Given the description of an element on the screen output the (x, y) to click on. 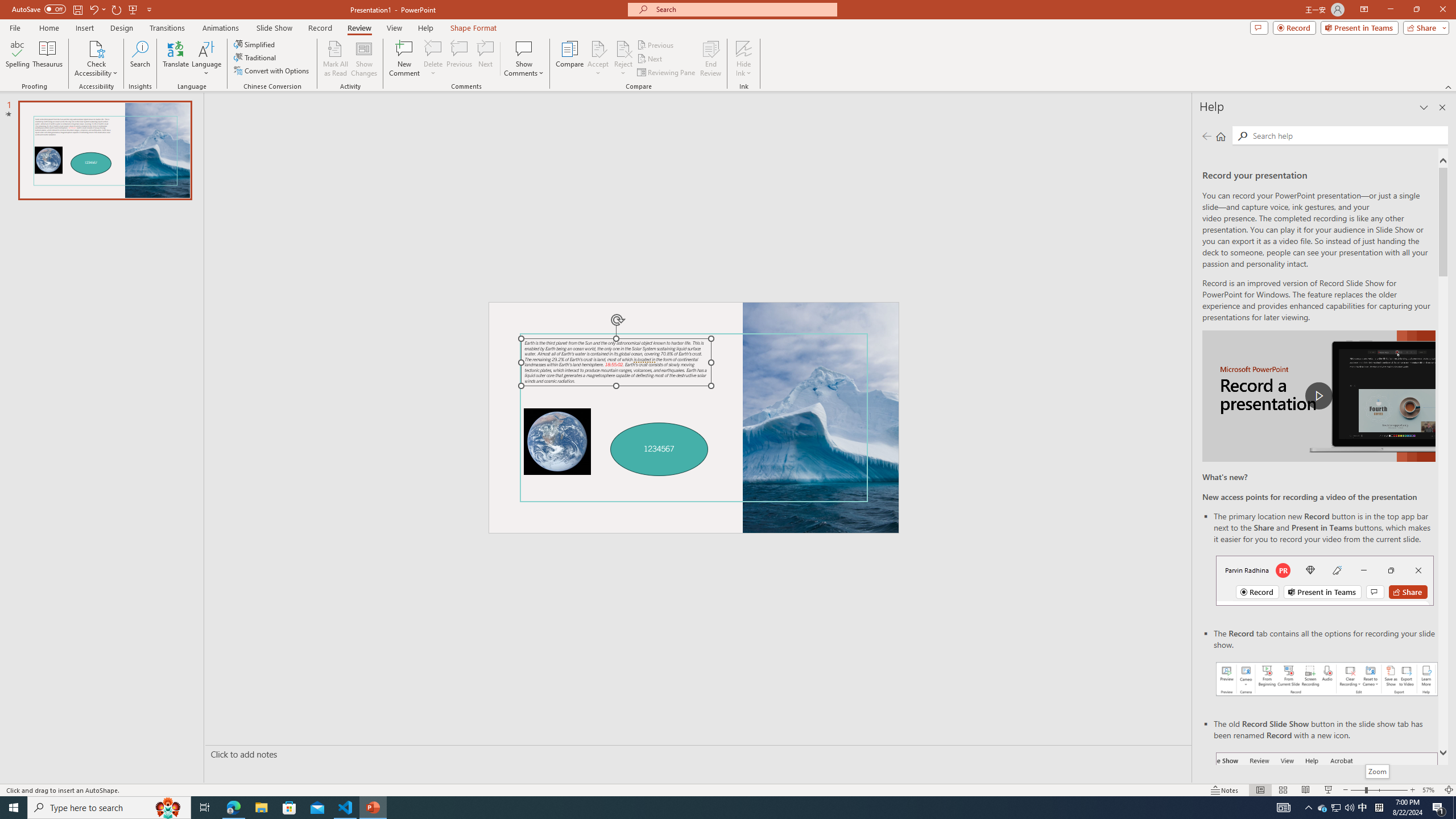
Delete (432, 58)
Spelling... (17, 58)
play Record a Presentation (1318, 395)
